Given the description of an element on the screen output the (x, y) to click on. 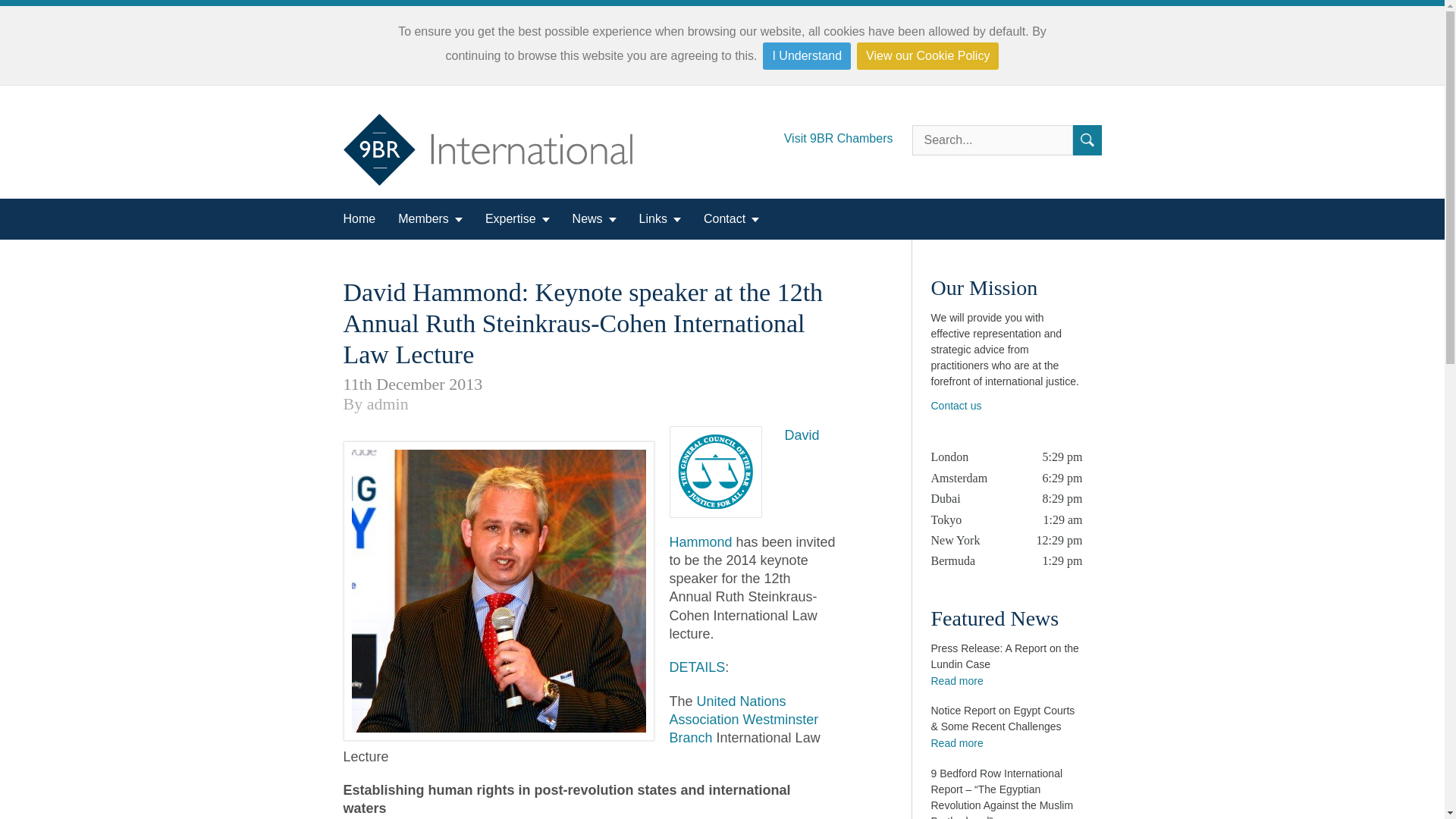
Visit 9BR Chambers (848, 134)
I Understand (806, 55)
Expertise (517, 219)
Members (430, 219)
Posts by admin (387, 403)
View our Cookie Policy (927, 55)
